Given the description of an element on the screen output the (x, y) to click on. 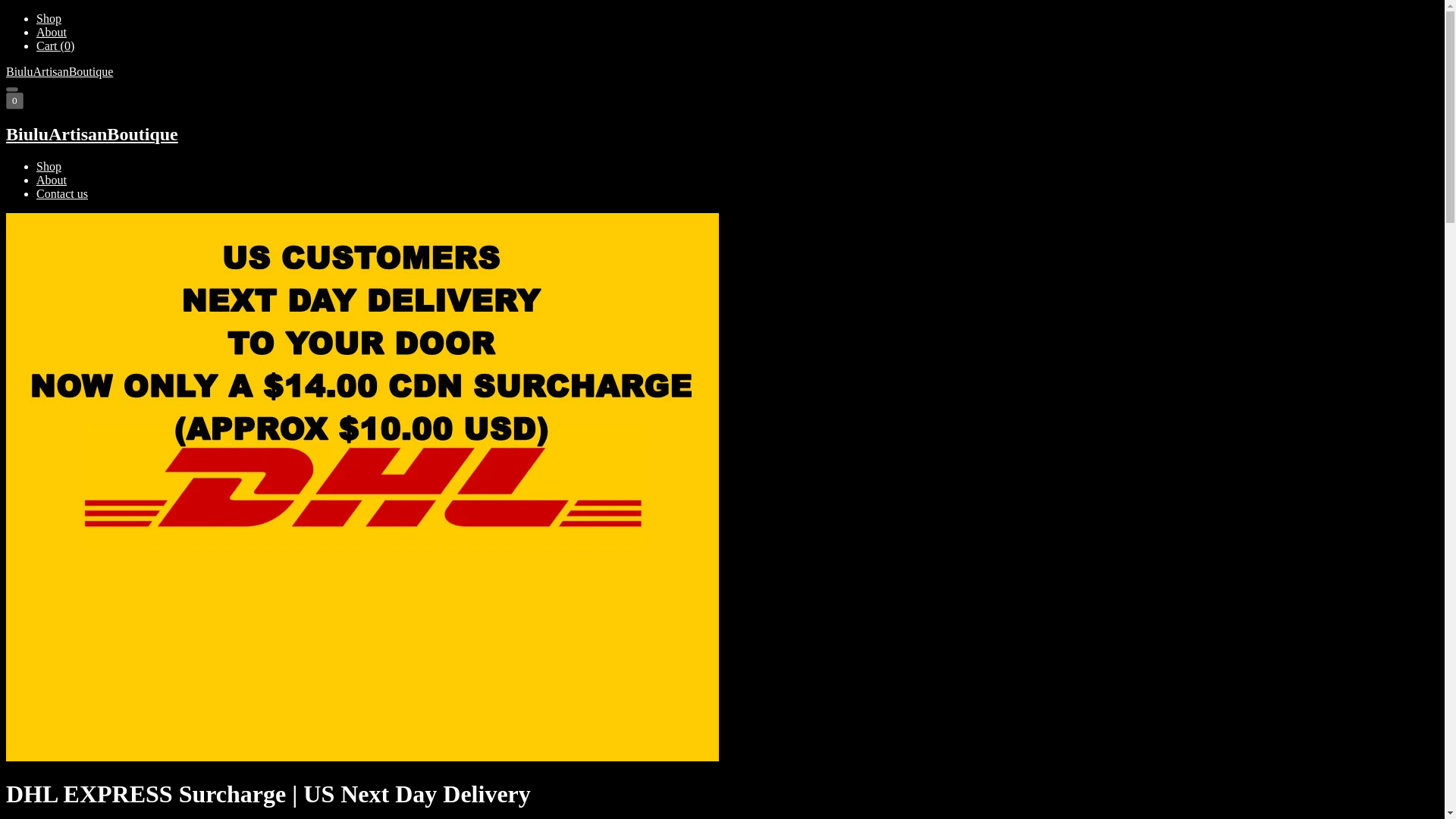
Contact us (61, 193)
About (51, 31)
About (51, 179)
Shop (48, 165)
Shop (48, 18)
0 (14, 100)
